Given the description of an element on the screen output the (x, y) to click on. 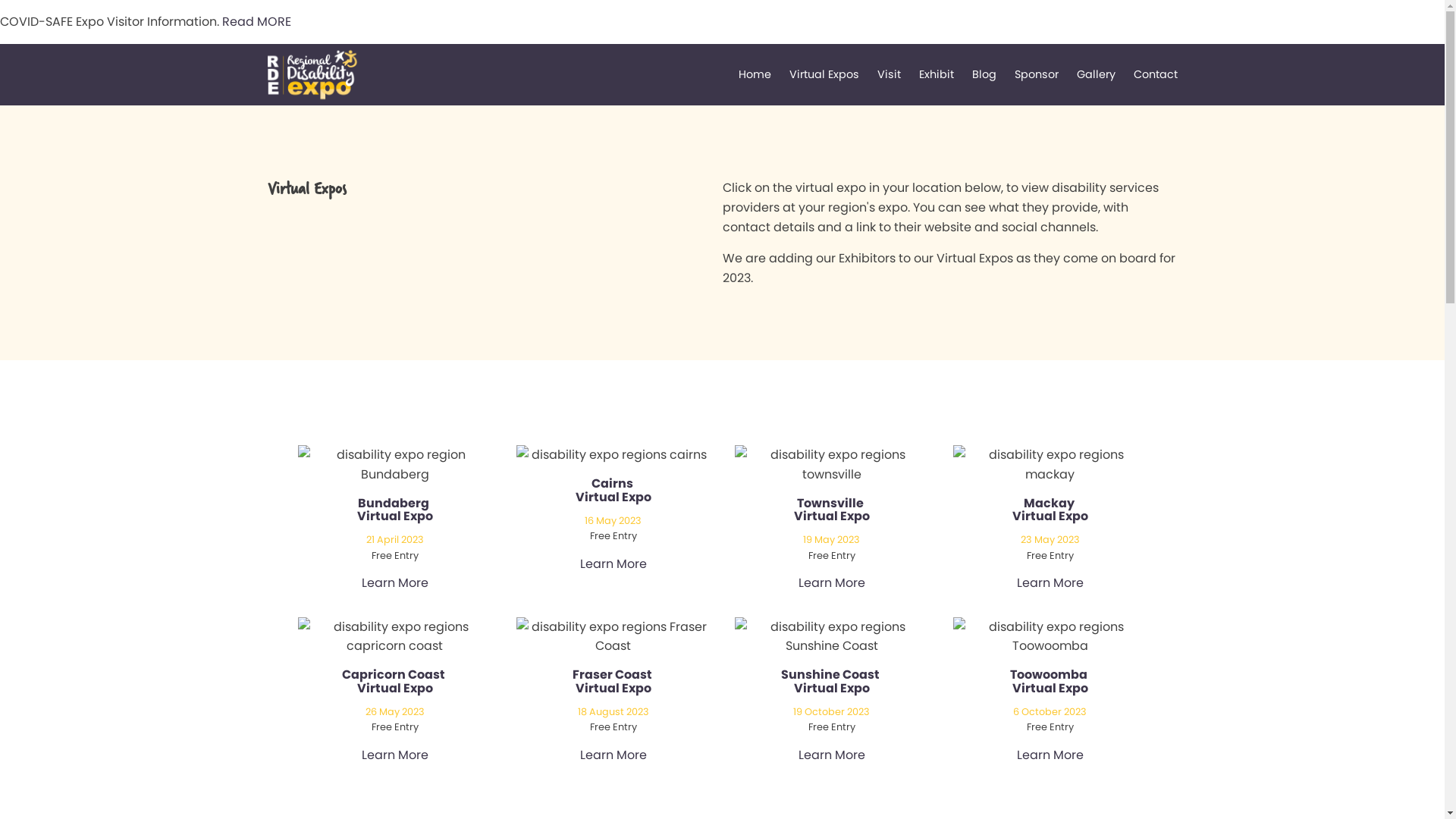
Home Element type: text (754, 74)
Gallery Element type: text (1095, 74)
Visit Element type: text (888, 74)
Exhibit Element type: text (936, 74)
Learn More Element type: text (1049, 755)
Learn More Element type: text (830, 583)
Blog Element type: text (984, 74)
Sponsor Element type: text (1036, 74)
Learn More Element type: text (1049, 583)
Contact Element type: text (1154, 74)
Learn More Element type: text (612, 564)
Learn More Element type: text (393, 583)
Learn More Element type: text (612, 755)
Learn More Element type: text (393, 755)
Read MORE Element type: text (256, 21)
Learn More Element type: text (830, 755)
Virtual Expos Element type: text (823, 74)
